Given the description of an element on the screen output the (x, y) to click on. 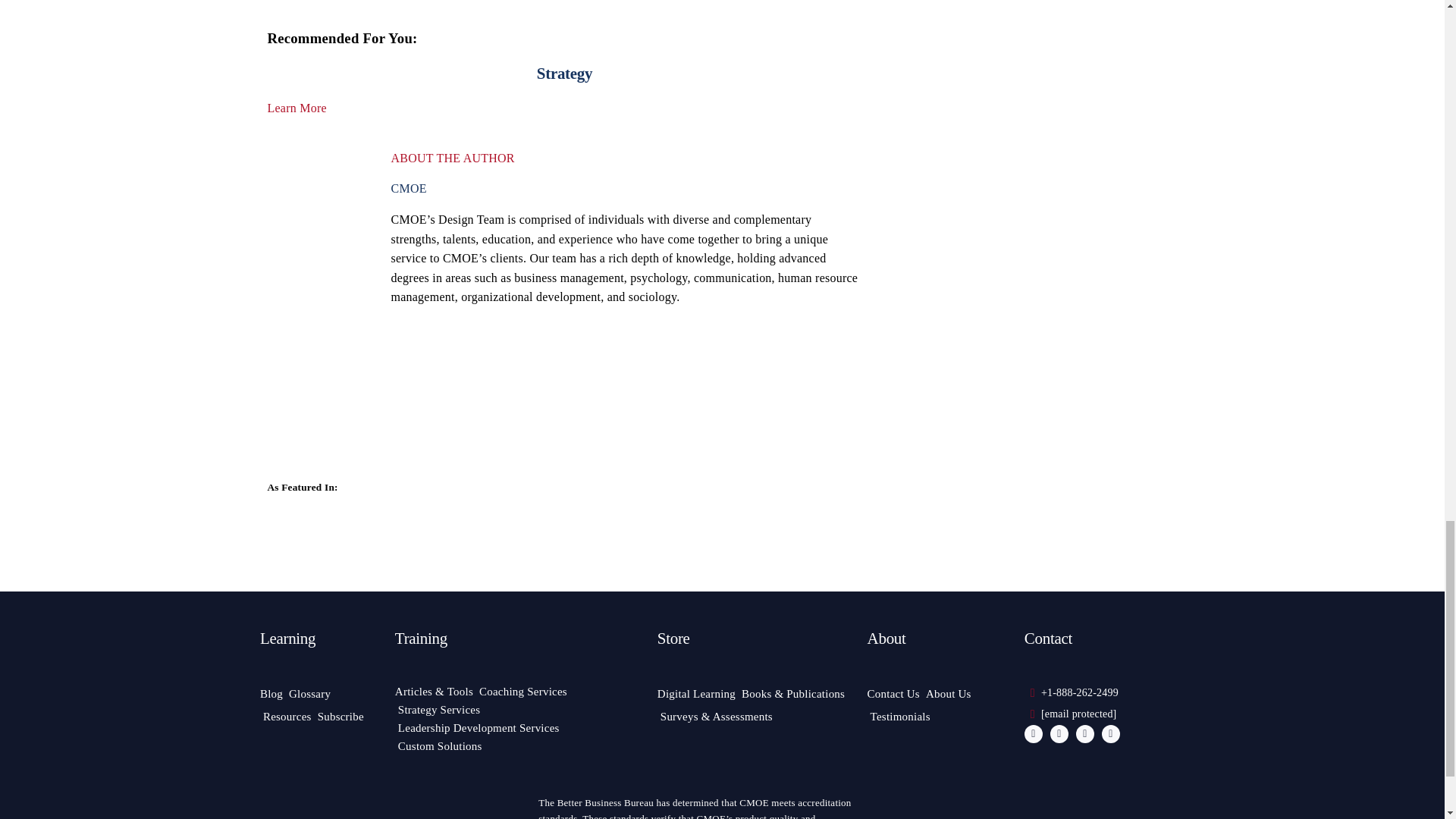
Facebook (1033, 733)
BBB-logo (473, 802)
X (1058, 733)
YouTube (1084, 733)
cmoe-full-logo-white (316, 807)
LinkedIn (1110, 733)
